Given the description of an element on the screen output the (x, y) to click on. 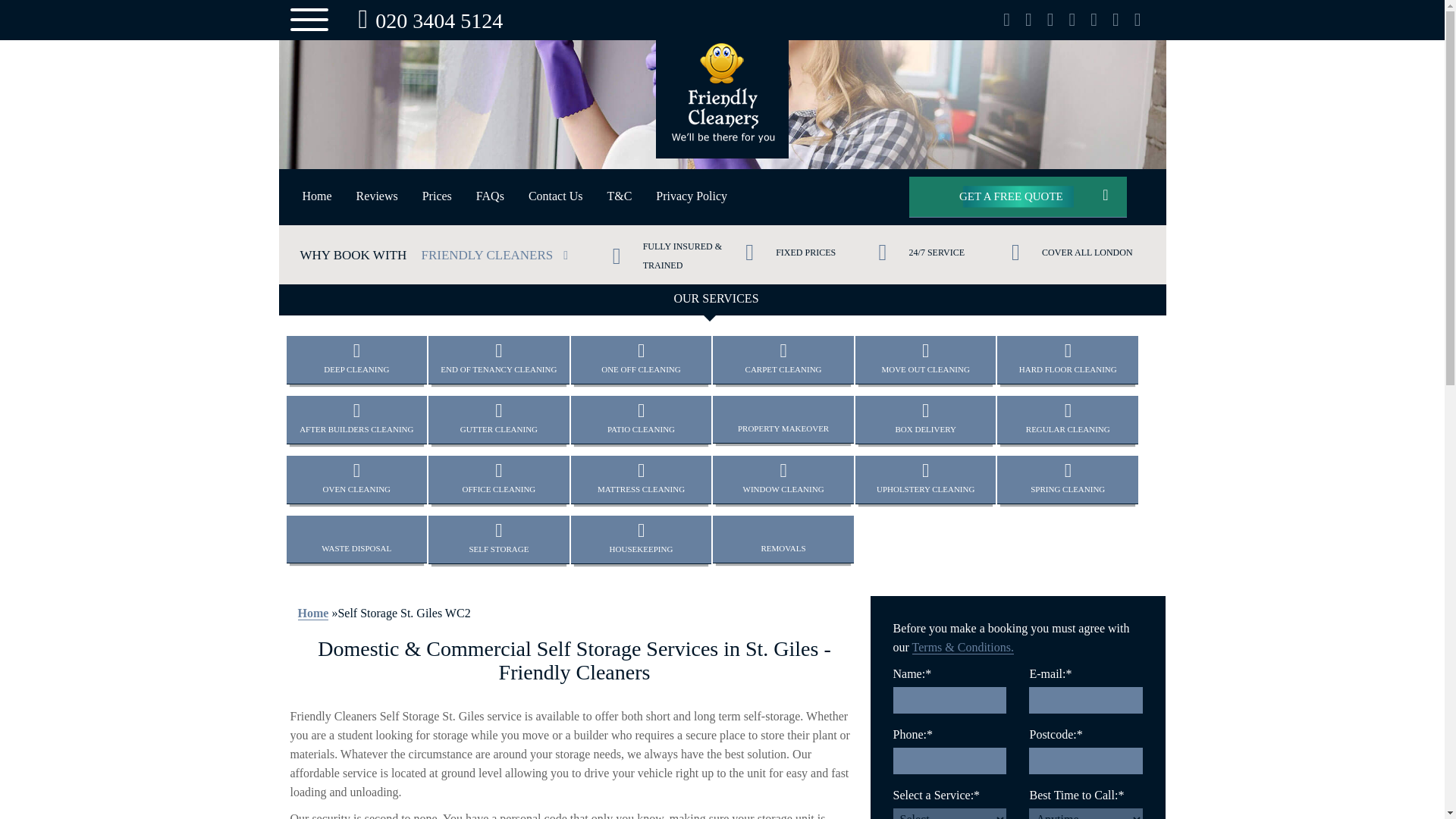
FAQs (490, 196)
GUTTER CLEANING (498, 419)
MOVE OUT CLEANING (925, 359)
PROPERTY MAKEOVER (783, 419)
UPHOLSTERY CLEANING (925, 479)
Cleaning Prices (437, 196)
Home (316, 196)
END OF TENANCY CLEANING (498, 359)
Contact Friendly Cleaners (722, 20)
